Given the description of an element on the screen output the (x, y) to click on. 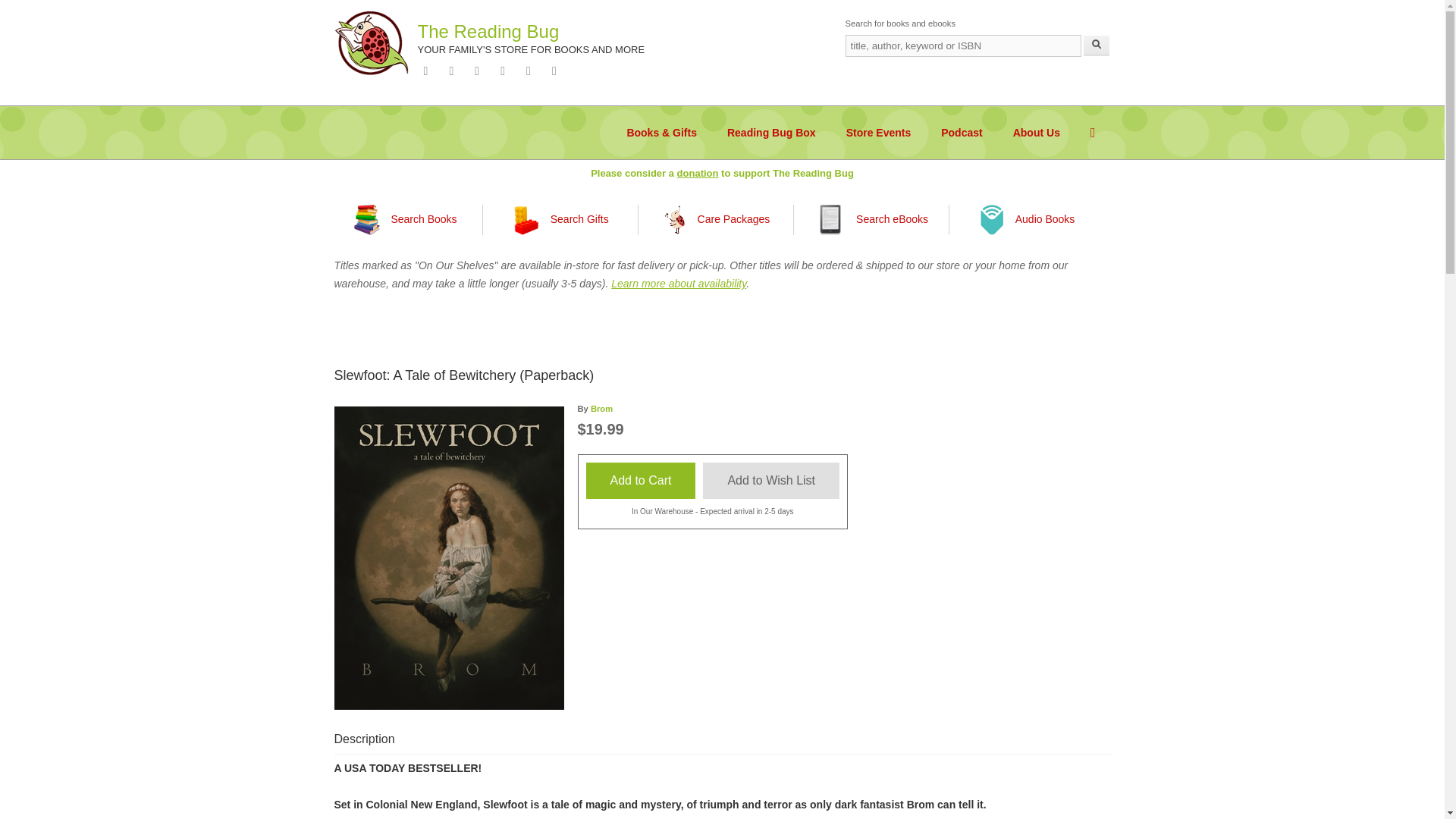
The Reading Bug (487, 31)
Home (371, 42)
Enter the terms you wish to search for. (962, 45)
Add to Cart (640, 480)
Search (1096, 46)
Home (487, 31)
Add to Wish List (771, 480)
Search (1096, 46)
